Given the description of an element on the screen output the (x, y) to click on. 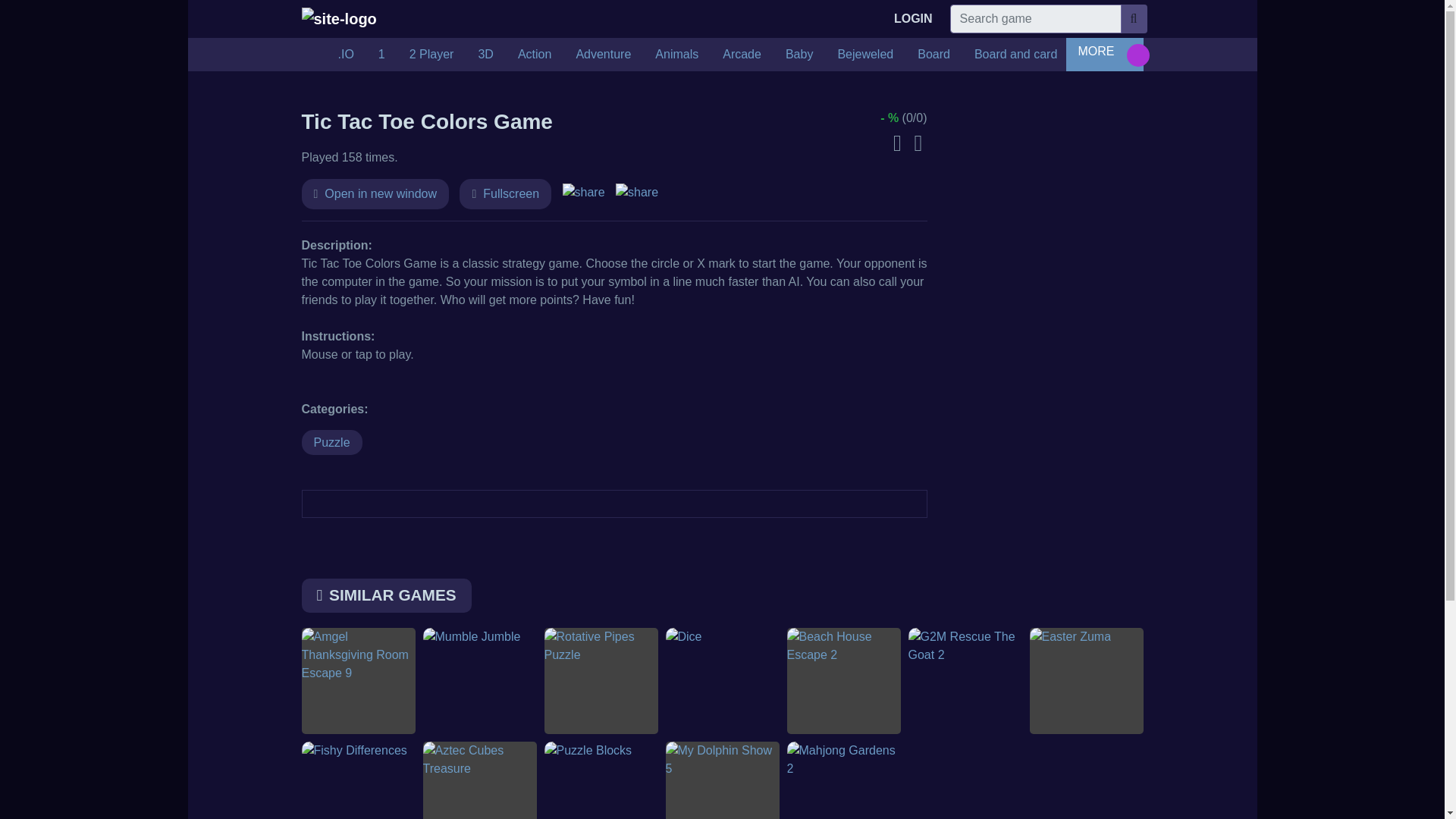
Board and card (1015, 54)
Arcade (741, 54)
Action (534, 54)
Bejeweled (865, 54)
Board (933, 54)
Adventure (603, 54)
.IO (346, 54)
LOGIN (913, 19)
1 (381, 54)
3D (485, 54)
